Given the description of an element on the screen output the (x, y) to click on. 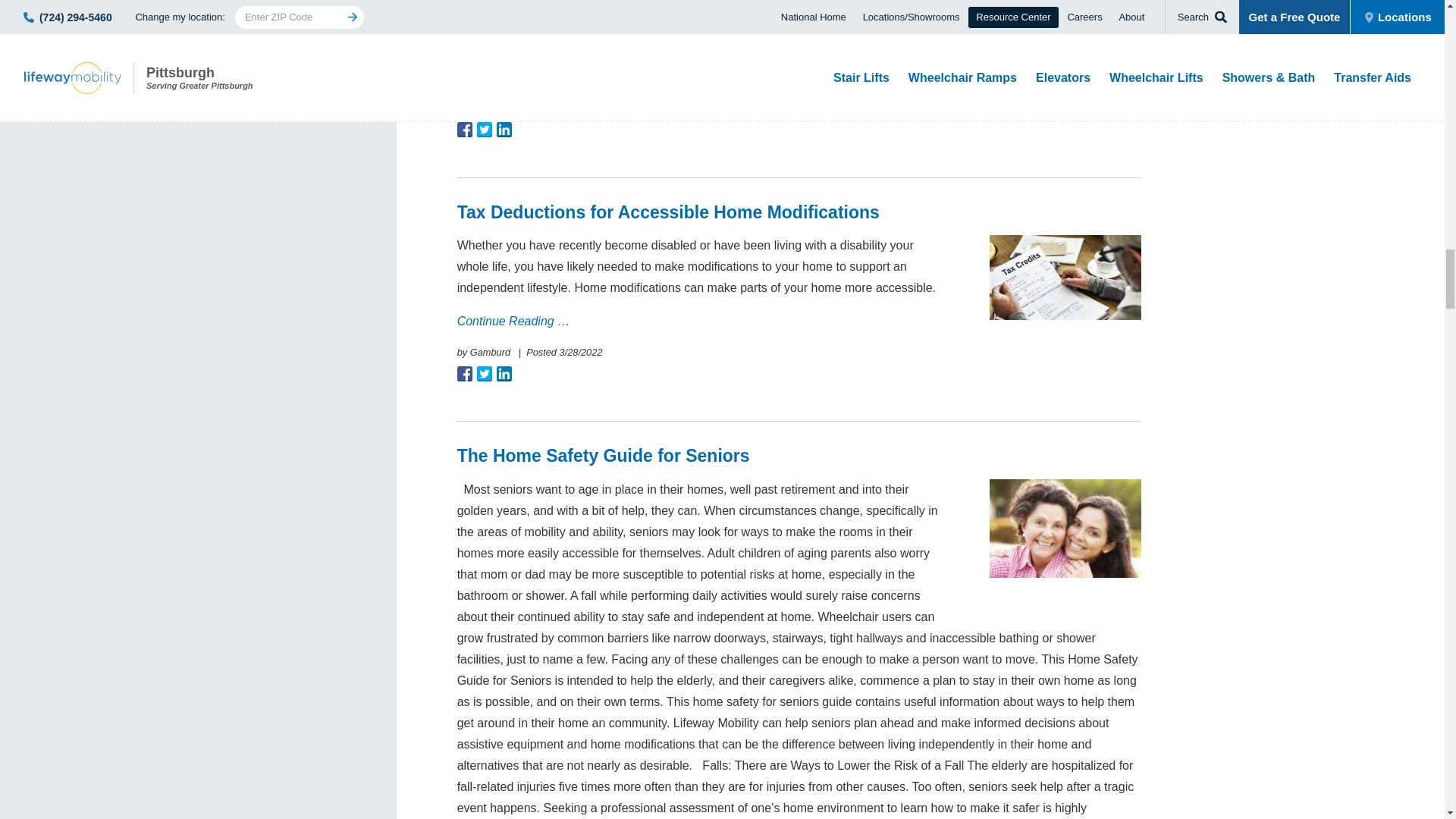
Share on Twitter (484, 129)
Share on Facebook (464, 373)
Share on LinkedIn (504, 129)
Share on Facebook (464, 129)
